Given the description of an element on the screen output the (x, y) to click on. 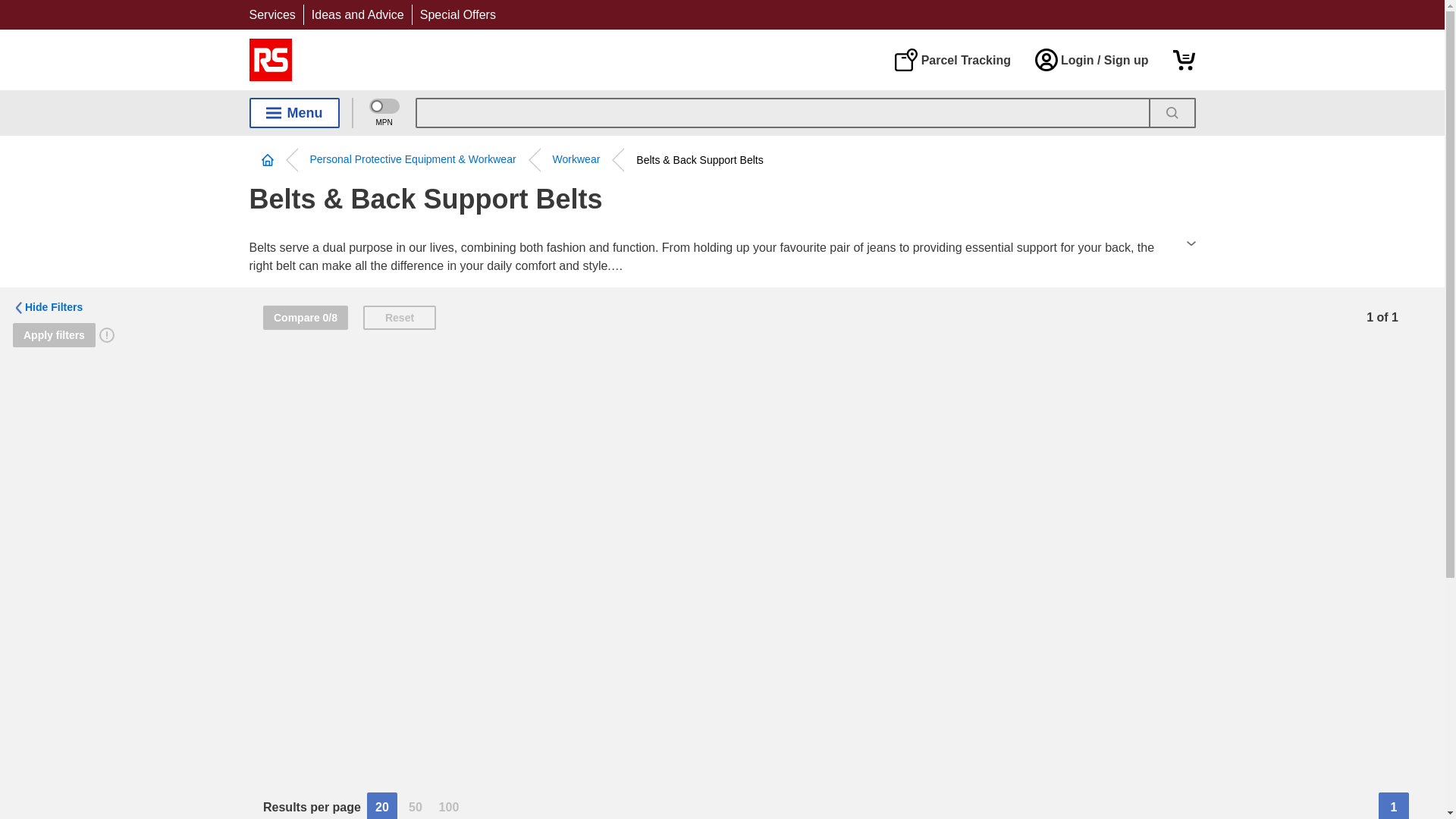
Parcel Tracking (951, 59)
Services (271, 14)
Ideas and Advice (357, 14)
Menu (293, 112)
Special Offers (458, 14)
